Given the description of an element on the screen output the (x, y) to click on. 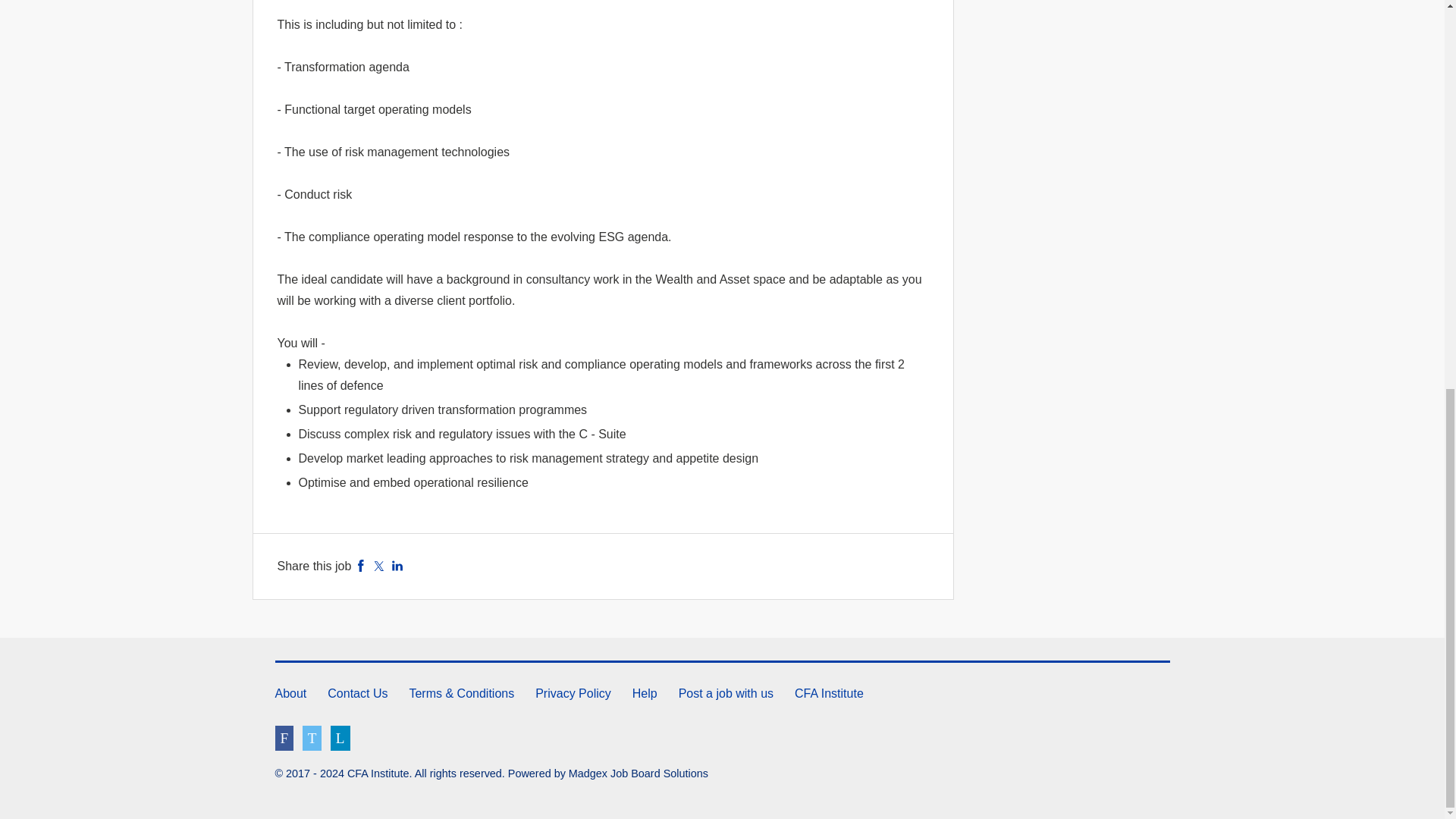
Twitter (378, 565)
Post a job with us (725, 693)
Contact Us (357, 693)
Facebook (360, 565)
About (290, 693)
LinkedIn (397, 565)
Help (644, 693)
Privacy Policy (573, 693)
CFA Institute (828, 693)
